Given the description of an element on the screen output the (x, y) to click on. 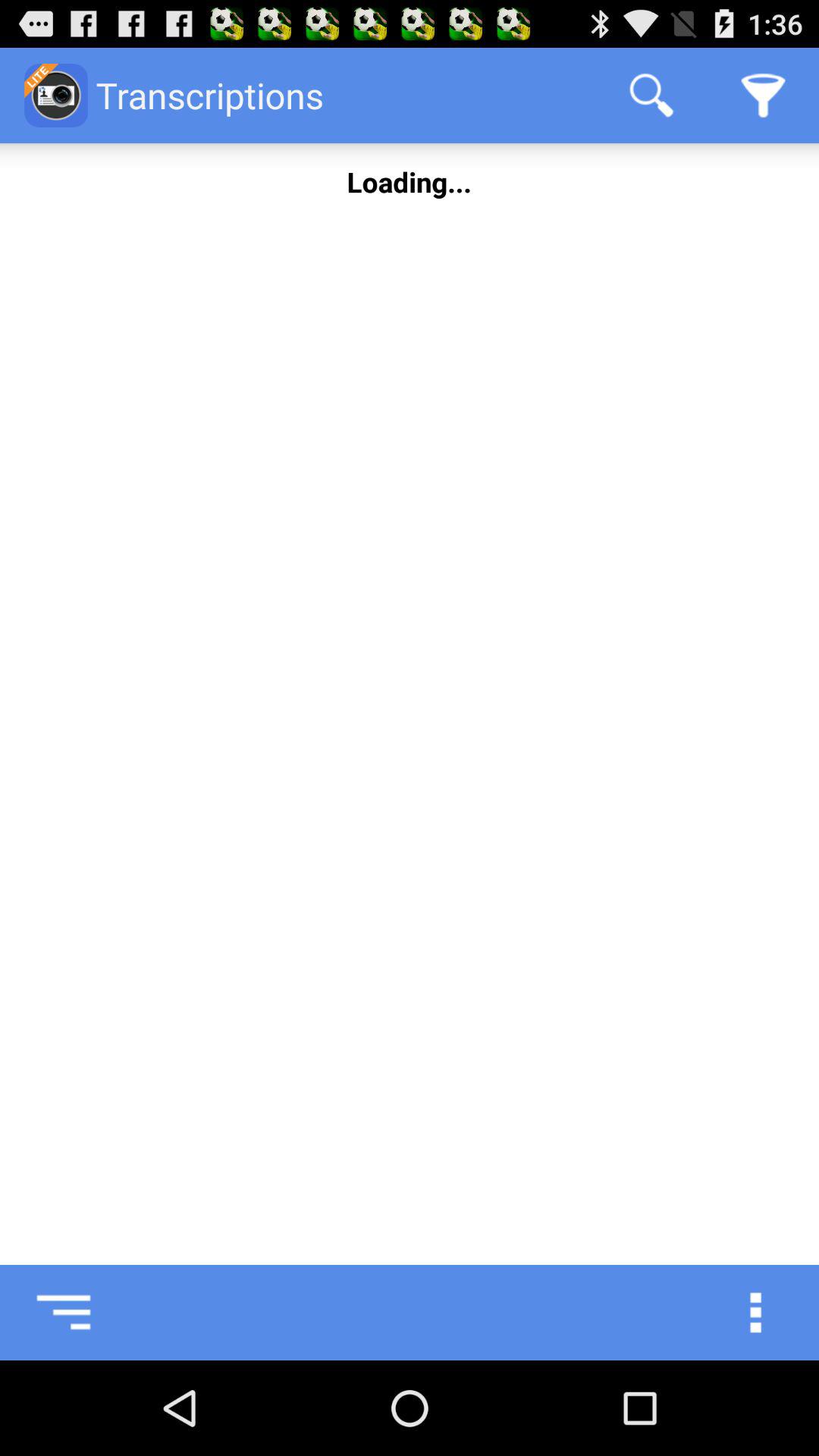
open app to the right of the transcriptions item (651, 95)
